Given the description of an element on the screen output the (x, y) to click on. 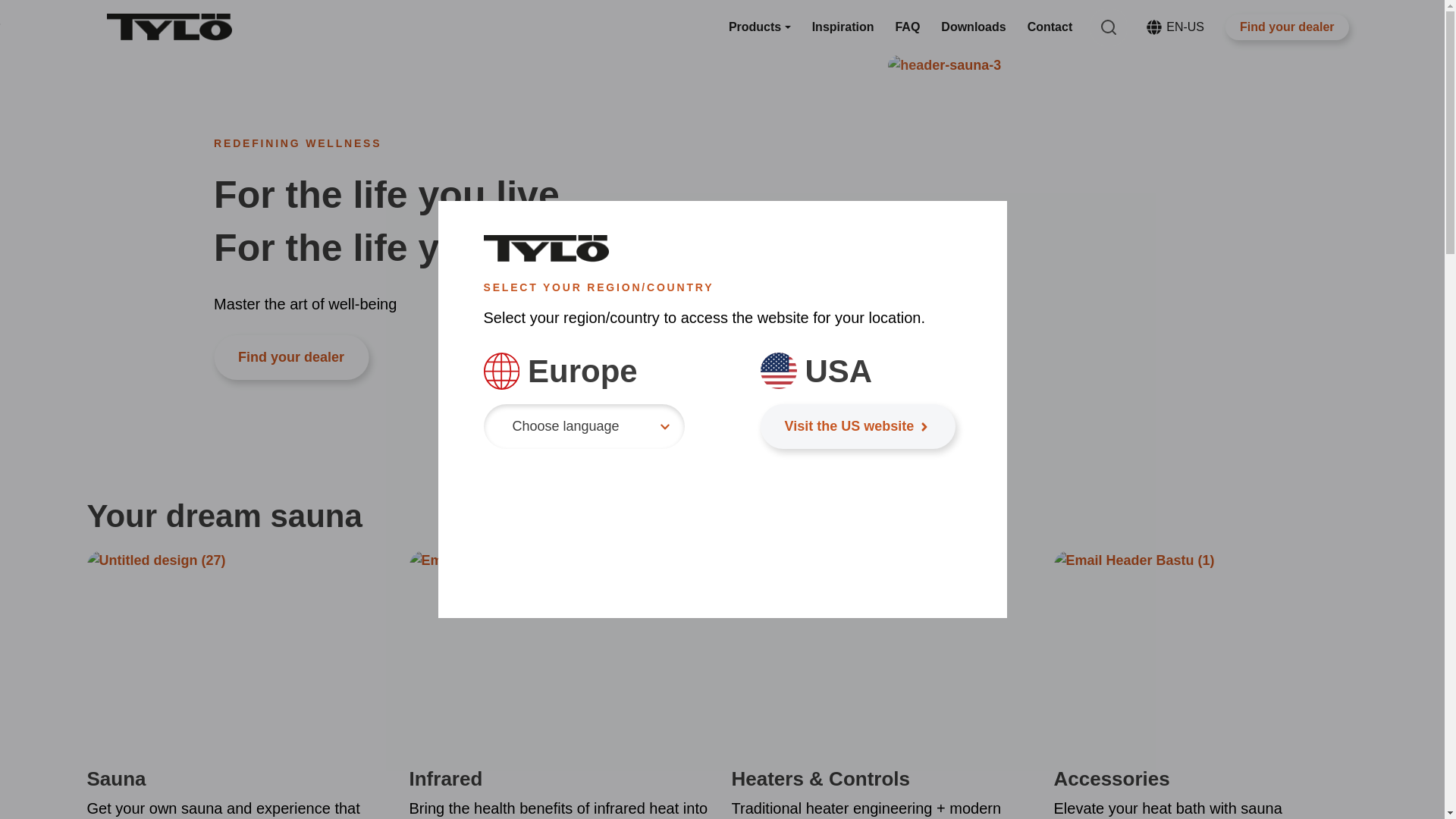
Find your dealer (291, 357)
Choose language (583, 426)
Contact (1174, 26)
FAQ (1049, 27)
Downloads (906, 27)
Visit the US website (973, 27)
Inspiration (857, 426)
Find your dealer (843, 27)
Change language (1286, 27)
Products (1154, 27)
